Given the description of an element on the screen output the (x, y) to click on. 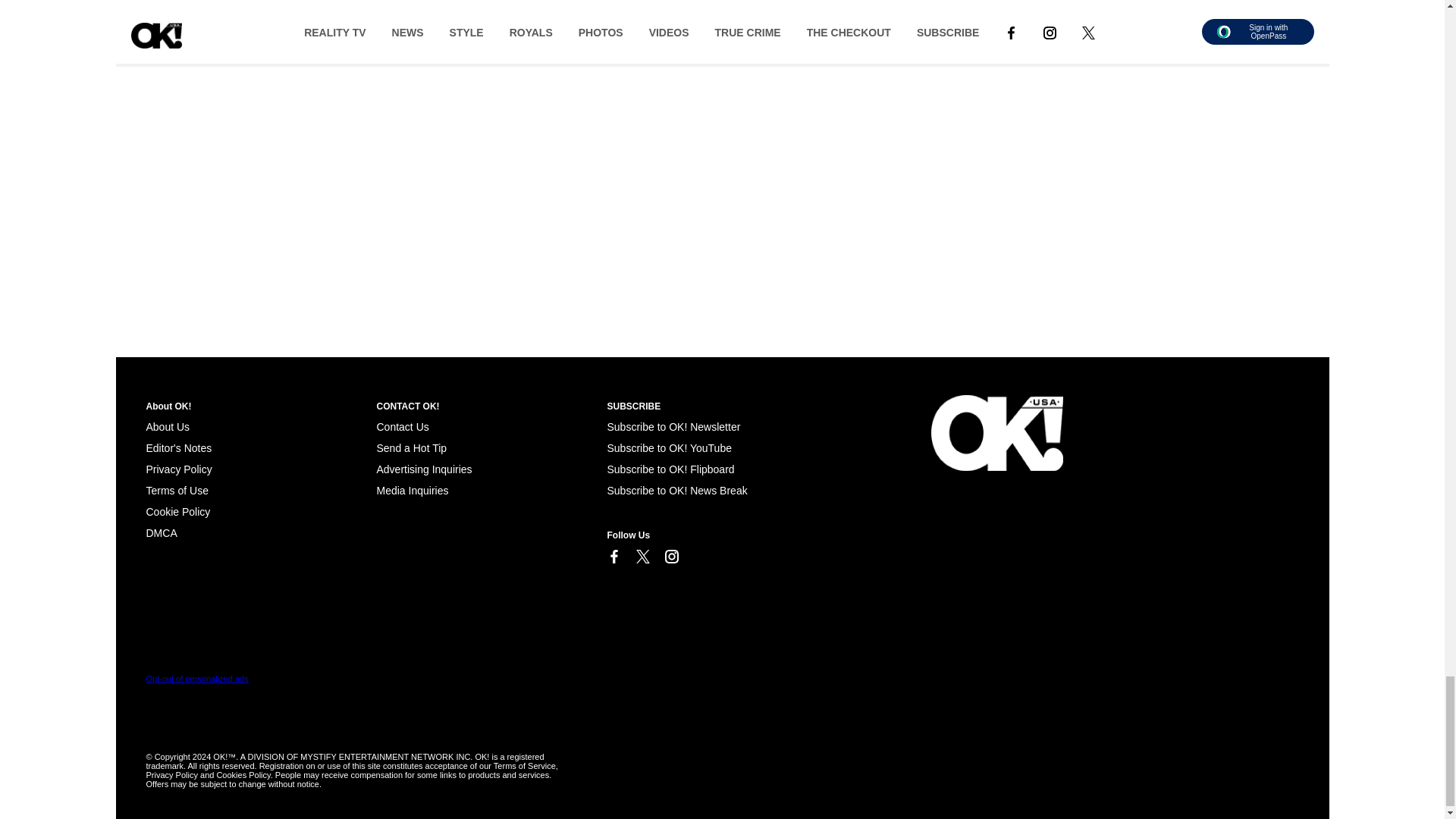
Link to Instagram (670, 556)
Terms of Use (176, 490)
Editor's Notes (178, 448)
Link to X (641, 556)
Privacy Policy (178, 469)
About Us (167, 426)
Cookie Policy (177, 511)
Link to Facebook (613, 556)
